Given the description of an element on the screen output the (x, y) to click on. 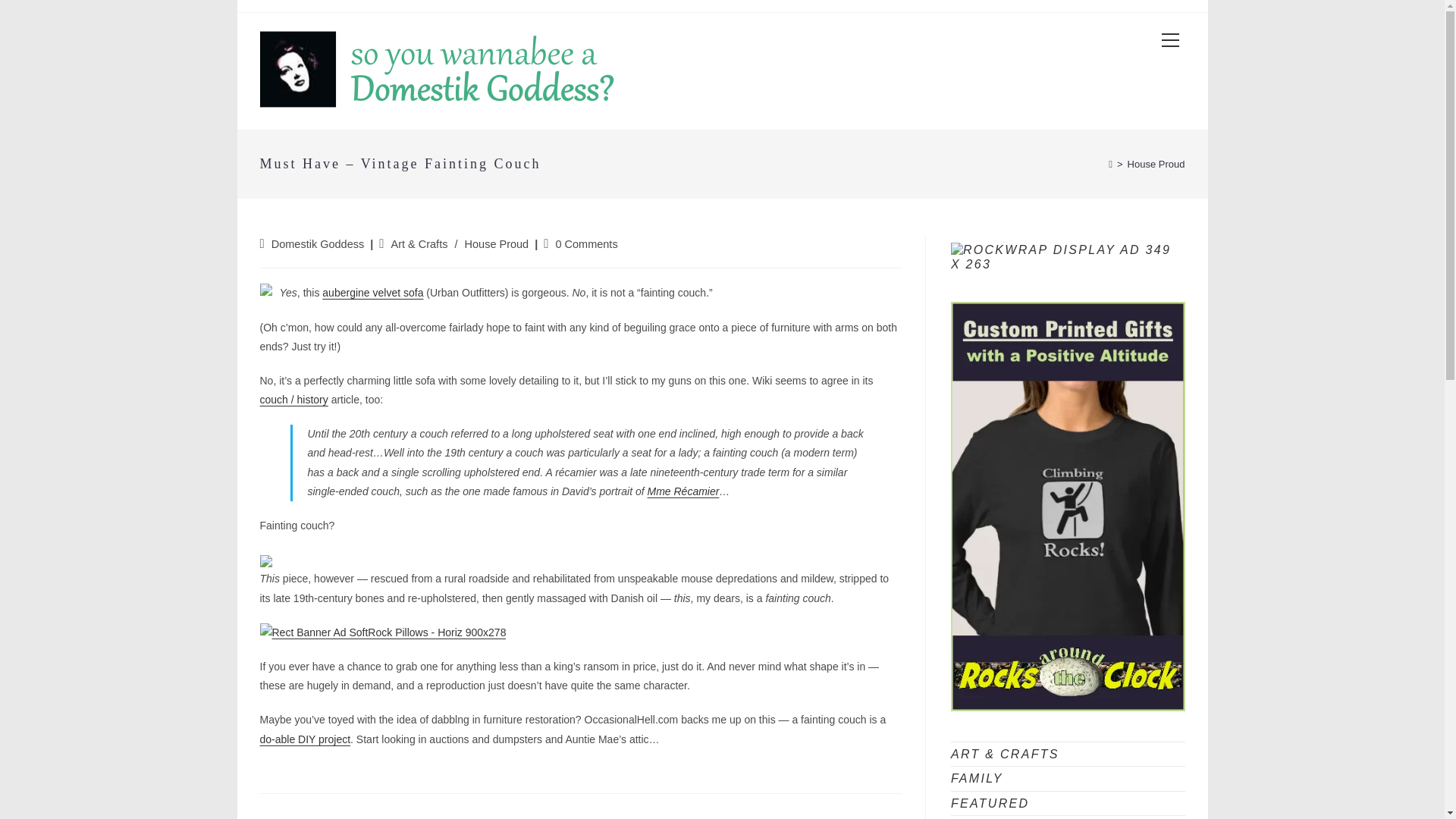
House Proud (496, 244)
View website Menu (1170, 41)
Domestik Goddess (317, 244)
House Proud (1155, 163)
Posts by Domestik Goddess (317, 244)
aubergine velvet sofa (372, 292)
0 Comments (585, 244)
do-able DIY project (304, 739)
